Given the description of an element on the screen output the (x, y) to click on. 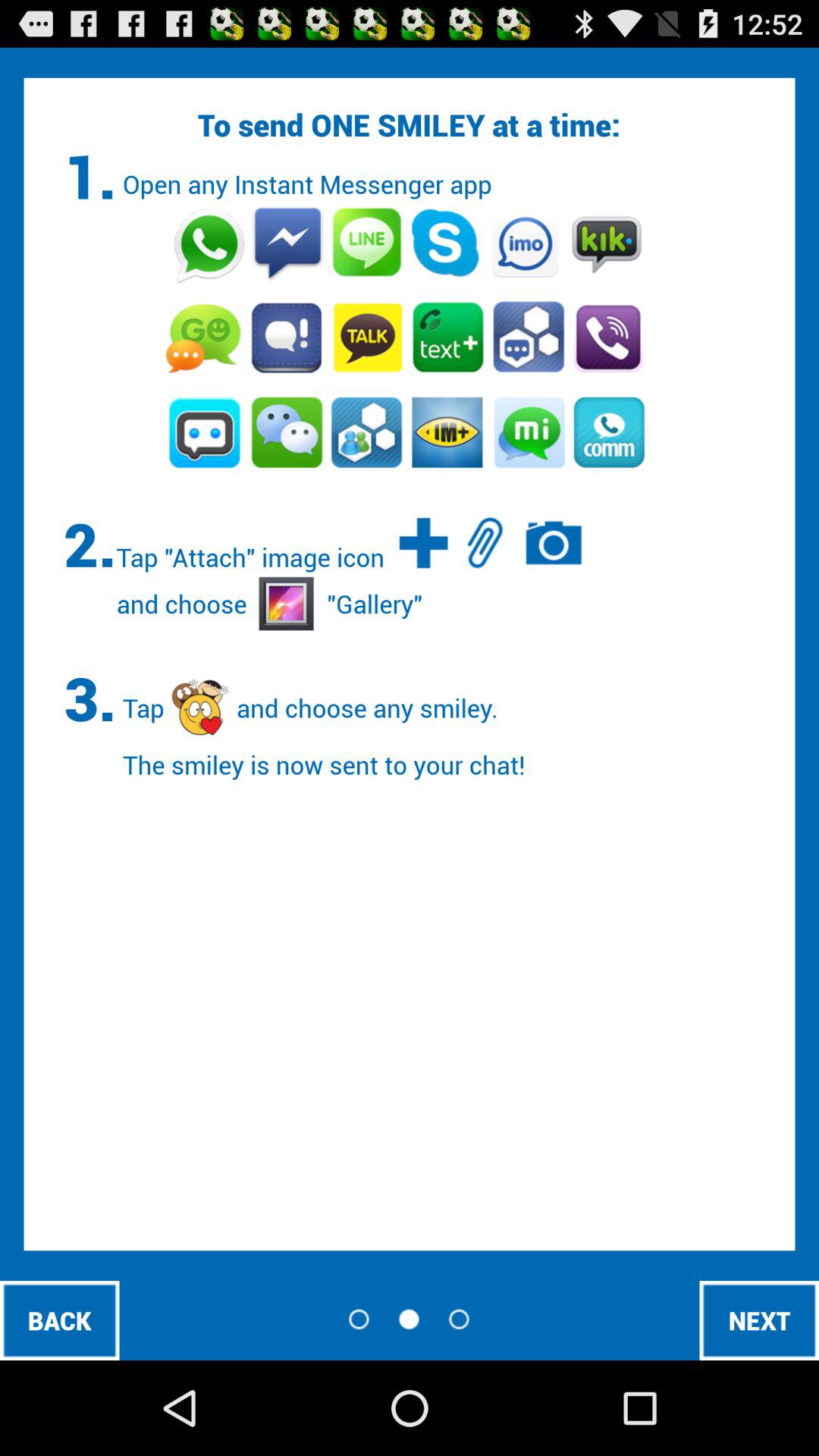
flip to the next item (759, 1320)
